Given the description of an element on the screen output the (x, y) to click on. 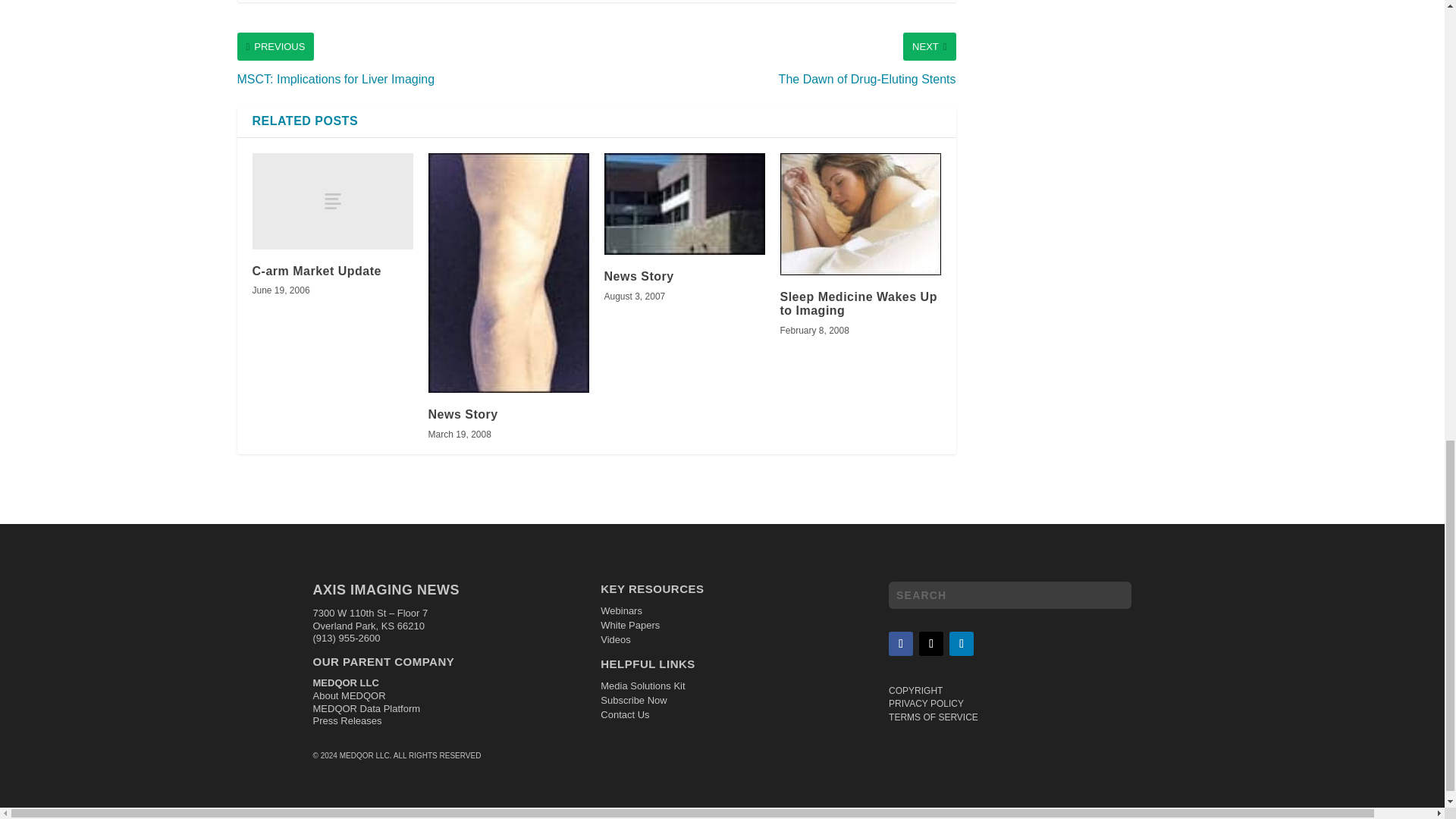
C-arm Market Update (331, 201)
Follow on Facebook (900, 643)
News Story (462, 413)
Sleep Medicine Wakes Up to Imaging (859, 214)
News Story (684, 203)
C-arm Market Update (315, 270)
